Given the description of an element on the screen output the (x, y) to click on. 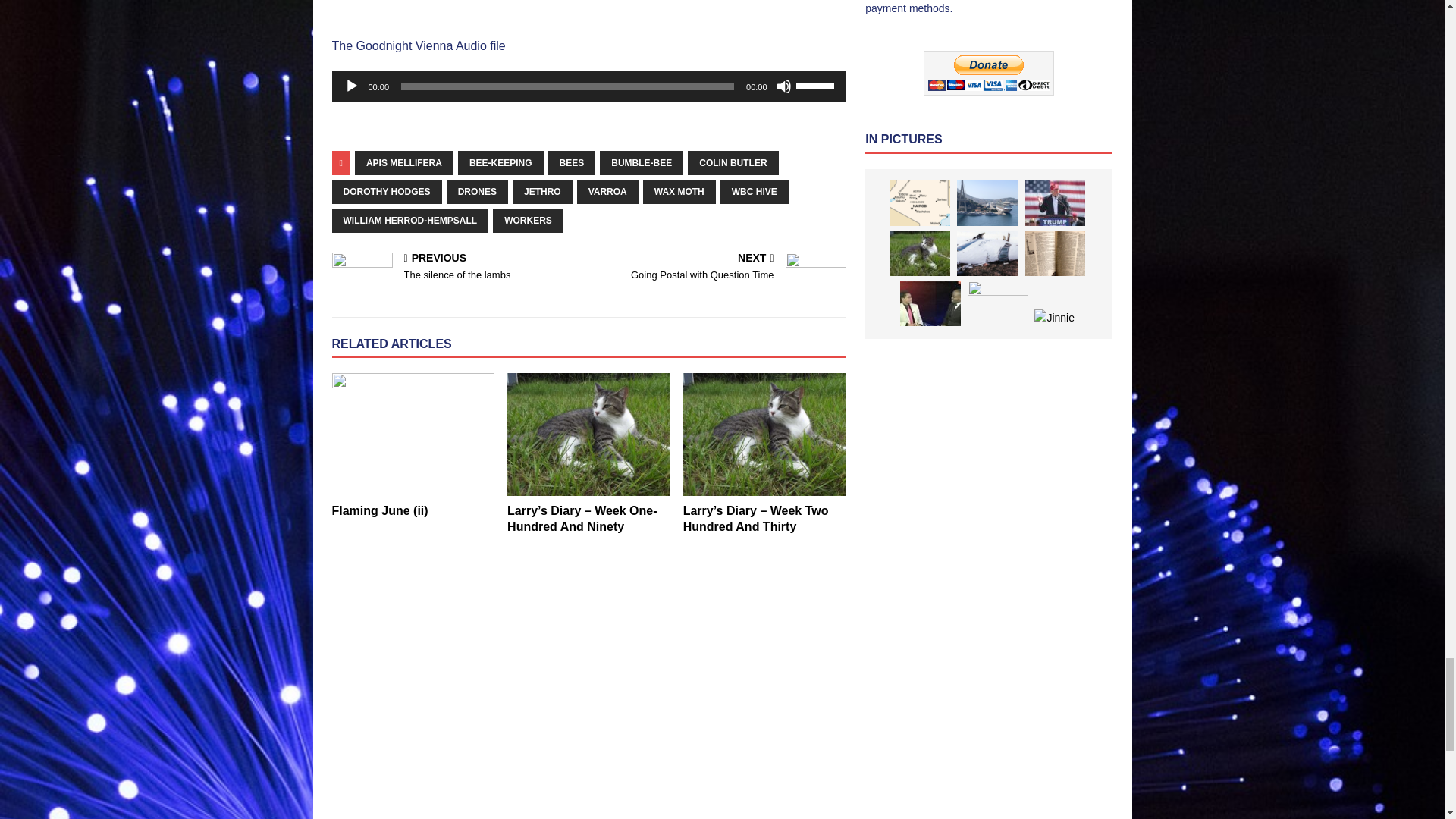
Mute (784, 86)
Play (351, 86)
